Given the description of an element on the screen output the (x, y) to click on. 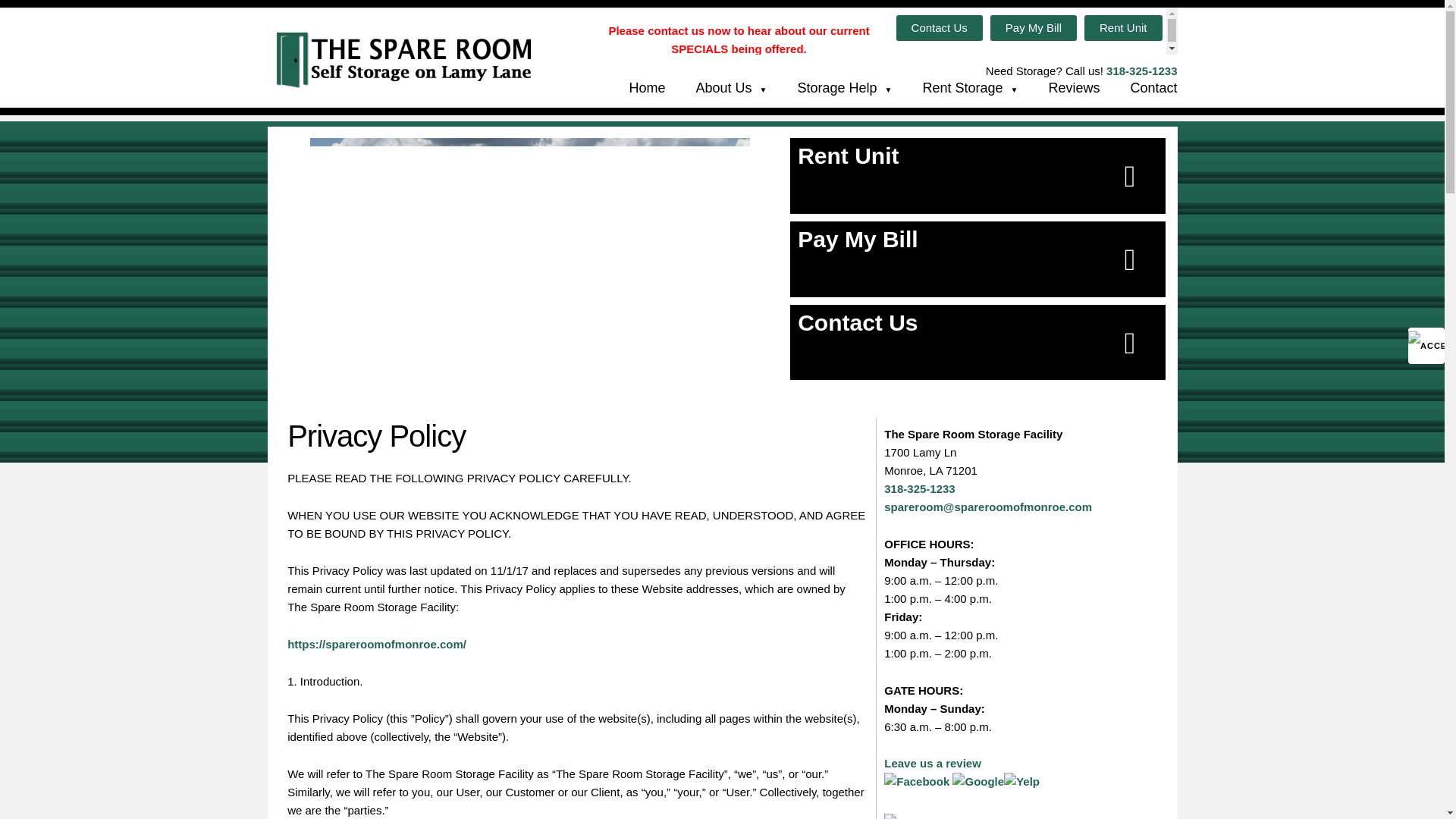
Rent Unit (978, 175)
318-325-1233 (919, 488)
About Us (716, 88)
Reviews (1058, 87)
Storage Help (829, 88)
318-325-1233 (1141, 70)
Pay My Bill (1033, 27)
Contact (1137, 87)
Leave us a review (932, 771)
Rent Storage (954, 88)
Home (631, 87)
Pay My Bill (978, 259)
Convenient Storage in Monroe, LA (1137, 87)
Contact Us (978, 342)
Rent Unit (1122, 27)
